Given the description of an element on the screen output the (x, y) to click on. 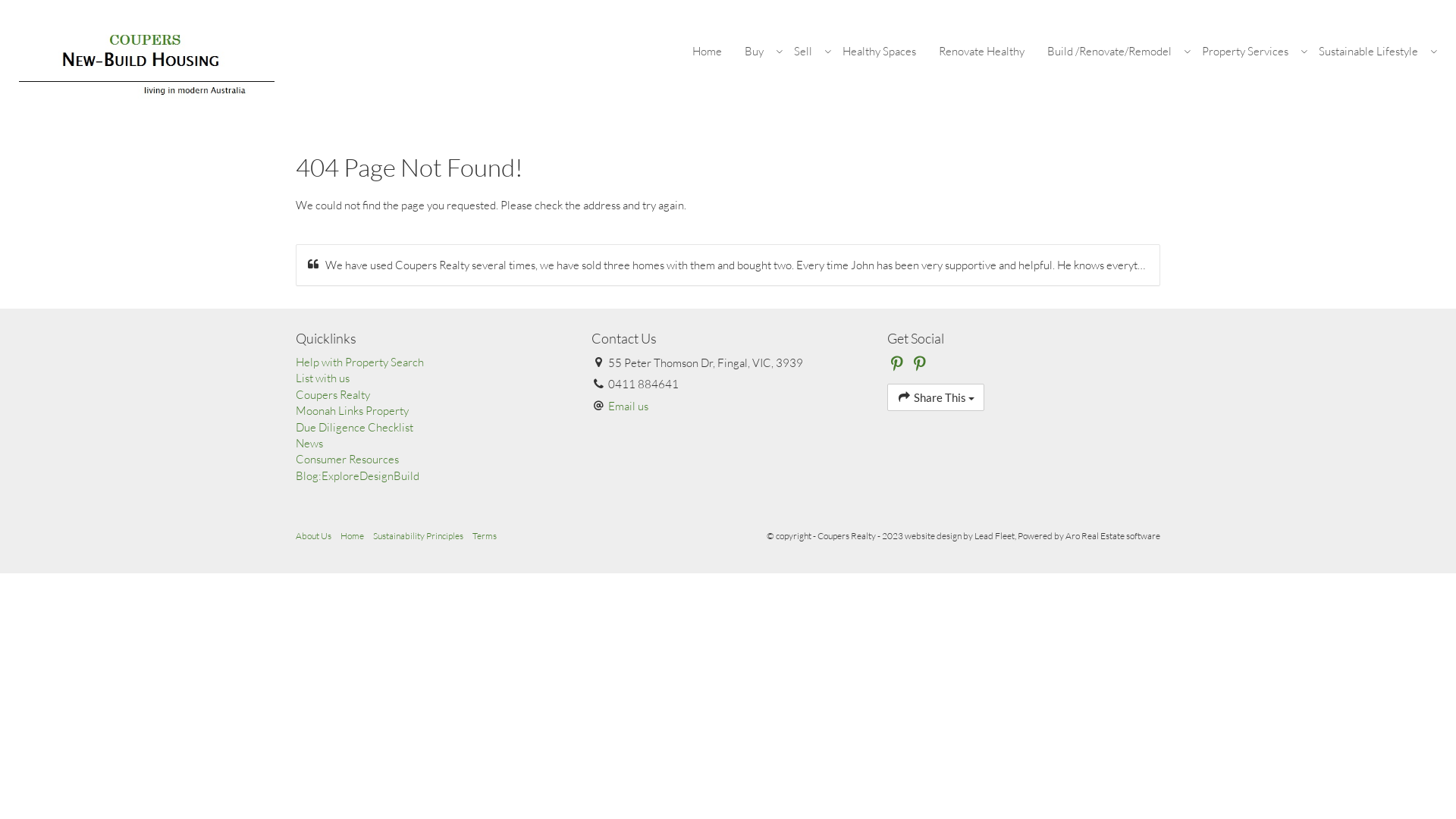
Renovate Healthy Element type: text (981, 50)
About Us Element type: text (313, 535)
Consumer Resources Element type: text (431, 459)
Coupers Realty Element type: hover (146, 63)
Home Element type: text (352, 535)
Share This Element type: text (935, 397)
Healthy Spaces Element type: text (879, 50)
Coupers Realty Element type: text (431, 394)
Aro Real Estate software Element type: text (1112, 535)
News Element type: text (431, 443)
Lead Fleet Element type: text (994, 535)
Due Diligence Checklist Element type: text (431, 427)
Moonah Links Property Element type: text (431, 410)
Property Services Element type: text (1248, 50)
Sell Element type: text (806, 50)
Sustainable Lifestyle Element type: text (1372, 50)
Sustainability Principles Element type: text (418, 535)
Home Element type: text (706, 50)
Blog:ExploreDesignBuild Element type: text (431, 475)
Terms Element type: text (484, 535)
Build /Renovate/Remodel Element type: text (1112, 50)
List with us Element type: text (431, 377)
Buy Element type: text (757, 50)
Help with Property Search Element type: text (431, 362)
Email us Element type: text (628, 405)
